Given the description of an element on the screen output the (x, y) to click on. 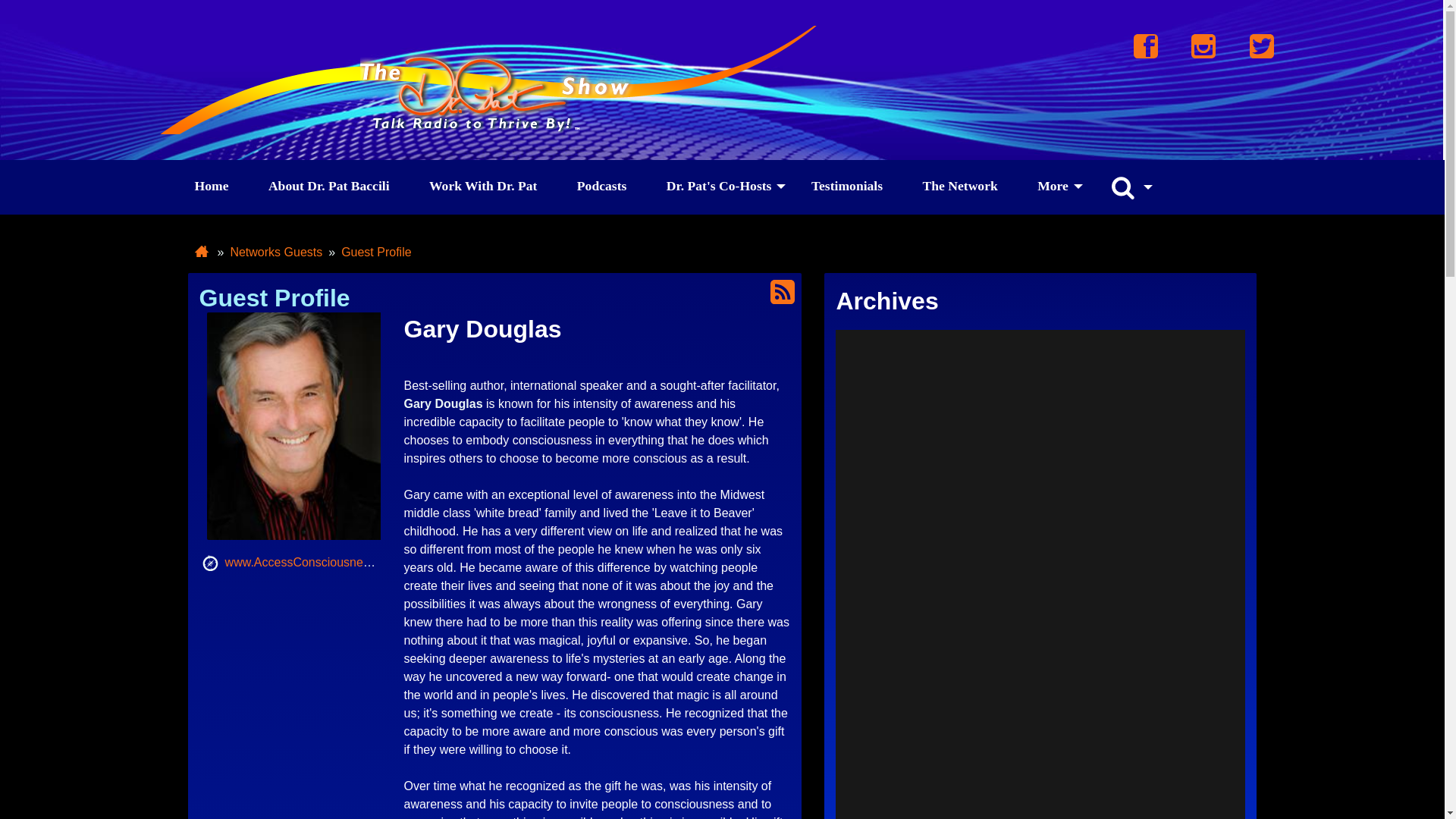
Home (211, 186)
The Network (960, 186)
Networks Guests (275, 252)
Subscribe to RSS Archives (782, 291)
About Dr. Pat Baccili (328, 186)
Guest Profile (375, 252)
More (1052, 186)
Dr. Pat's Co-Hosts (718, 186)
Networks Guests (275, 252)
Testimonials (847, 186)
Work With Dr. Pat (482, 186)
